Given the description of an element on the screen output the (x, y) to click on. 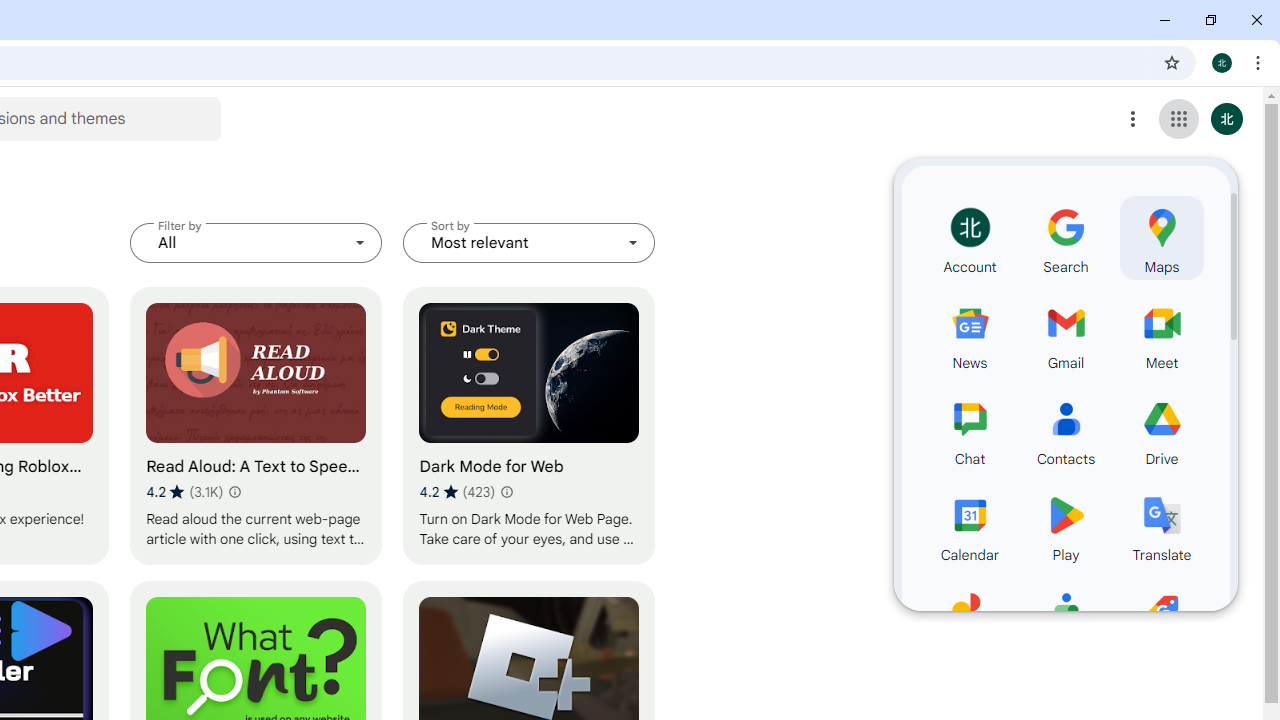
Dark Mode for Web (529, 426)
Average rating 4.2 out of 5 stars. 3.1K ratings. (184, 491)
Average rating 4.2 out of 5 stars. 423 ratings. (457, 491)
Filter by All (256, 242)
More options menu (1133, 118)
